Given the description of an element on the screen output the (x, y) to click on. 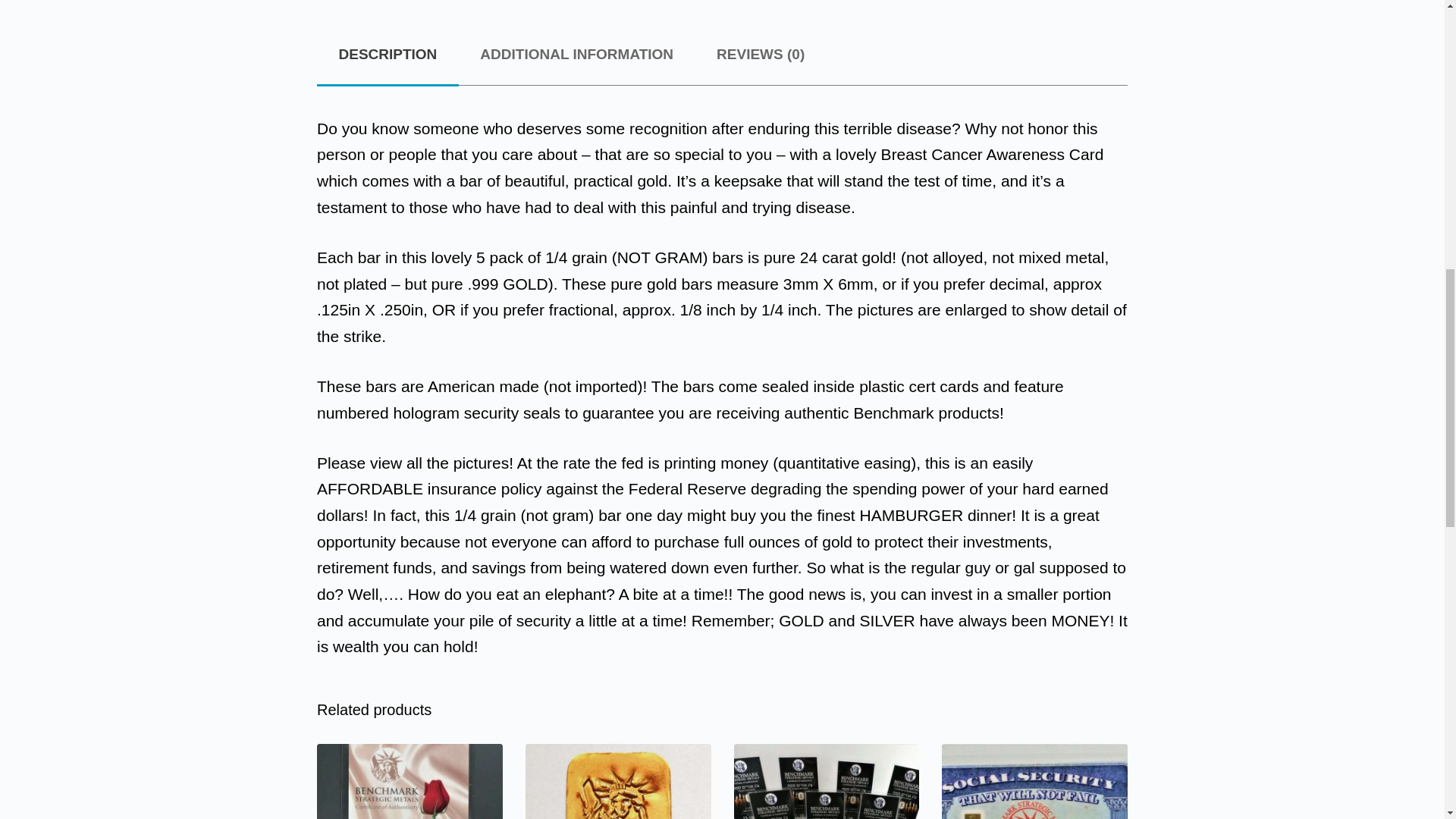
ADDITIONAL INFORMATION (576, 54)
candles 10-pack front (826, 781)
7.5-grain-bar.jpg (618, 781)
front-9.jpg (409, 781)
front (1034, 781)
DESCRIPTION (387, 54)
